Given the description of an element on the screen output the (x, y) to click on. 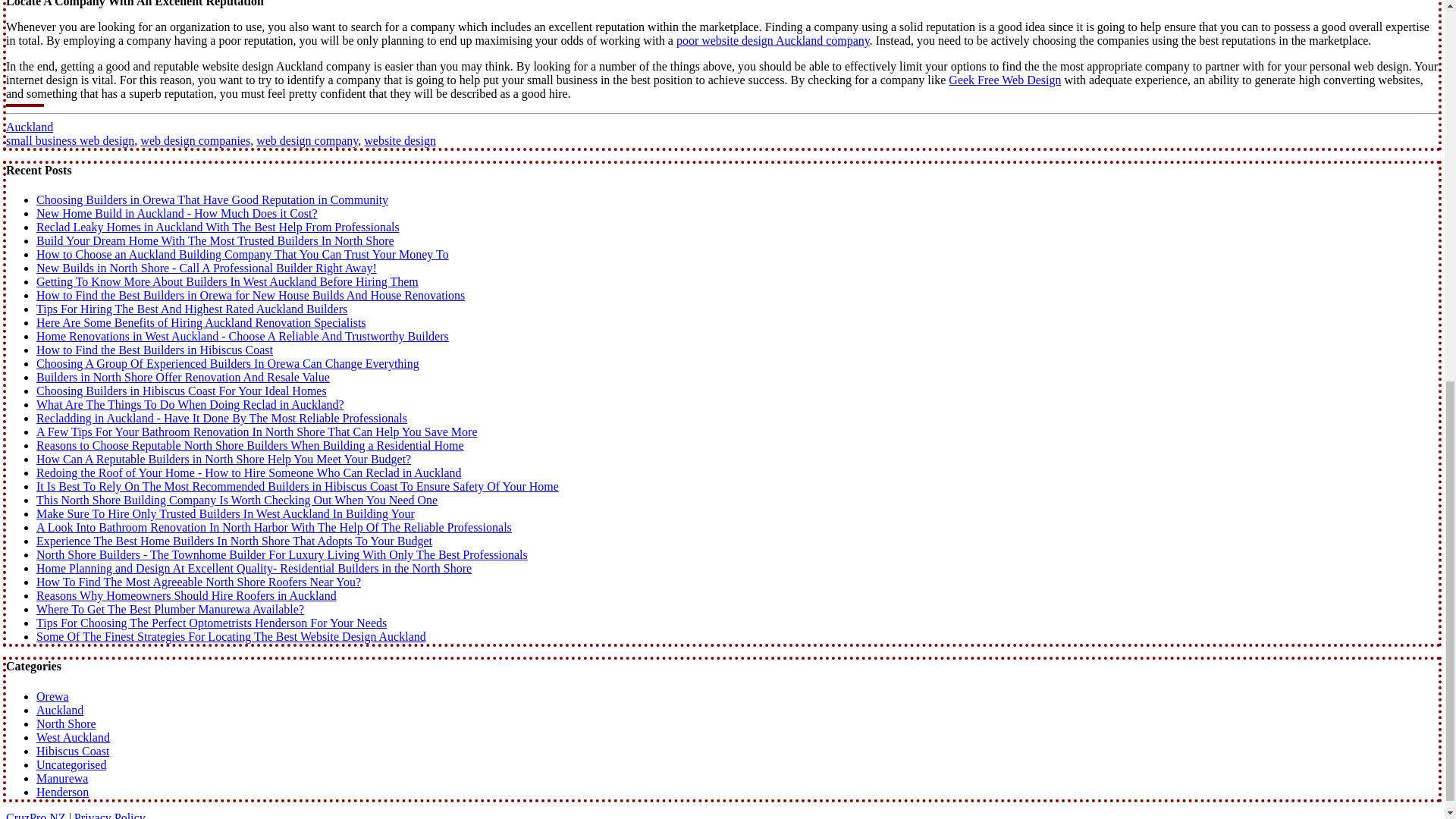
Tips For Hiring The Best And Highest Rated Auckland Builders (191, 308)
What Are The Things To Do When Doing Reclad in Auckland? (189, 404)
poor website design Auckland company (773, 40)
